Given the description of an element on the screen output the (x, y) to click on. 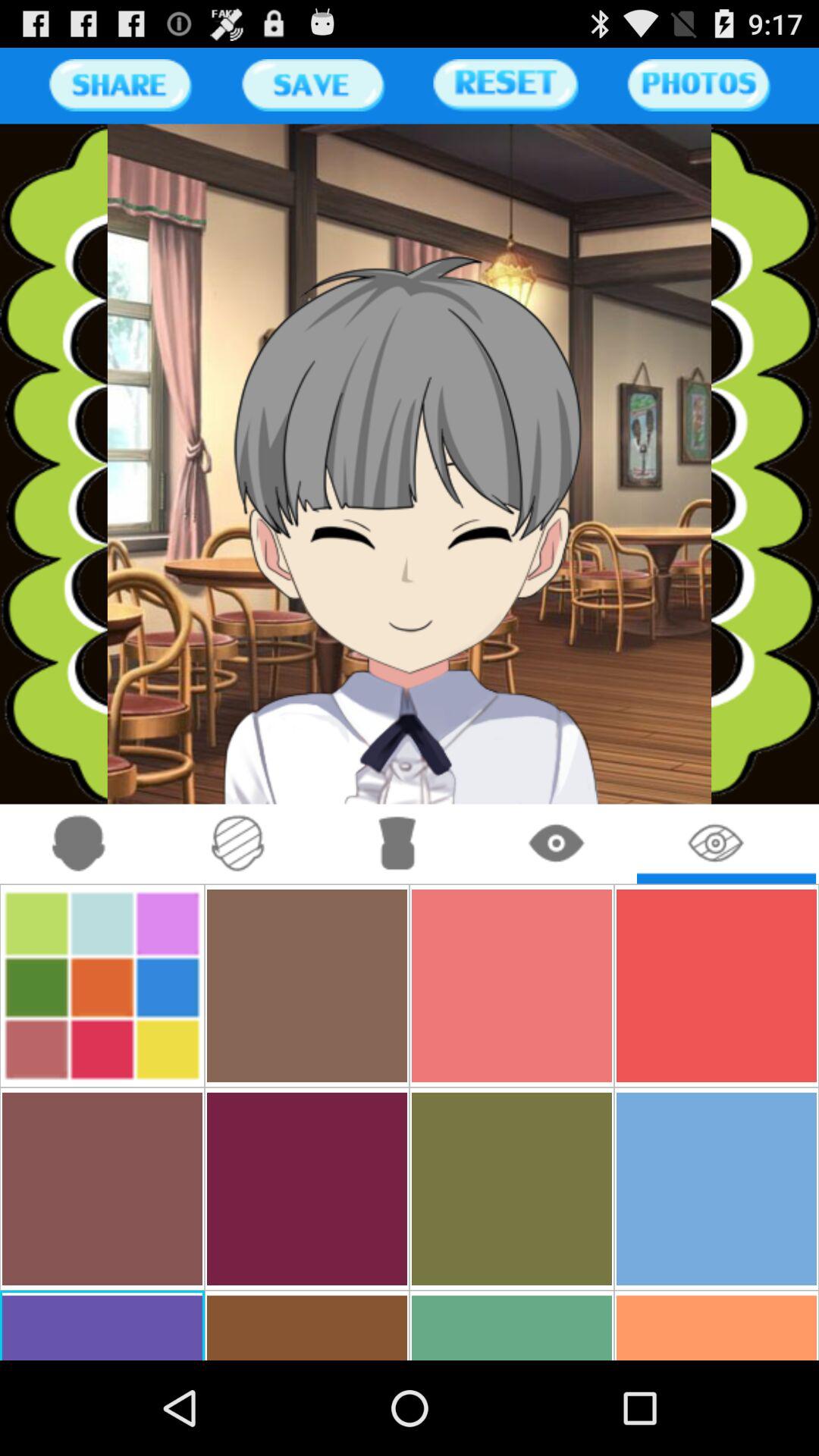
click eye button (557, 843)
